Given the description of an element on the screen output the (x, y) to click on. 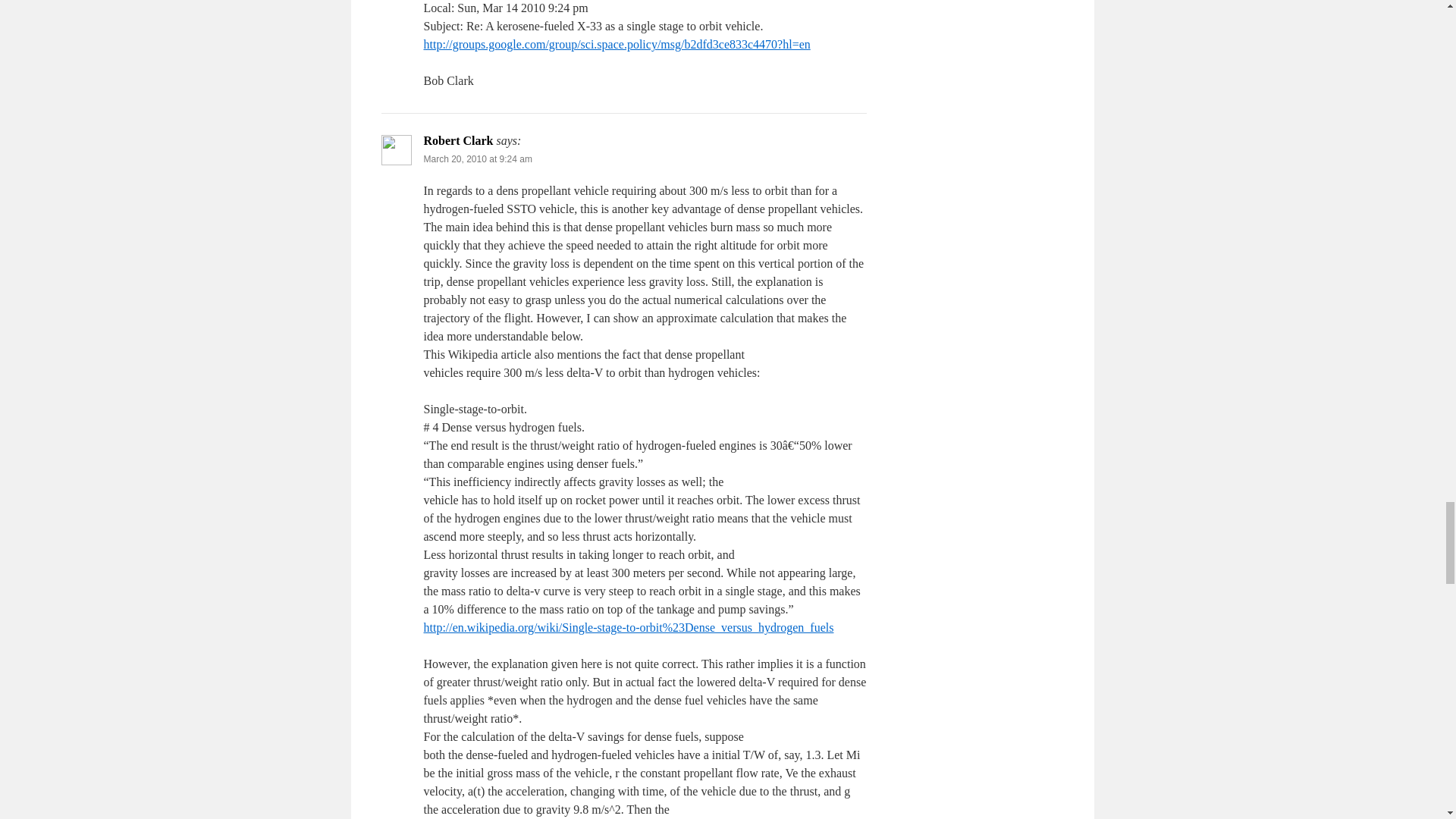
March 20, 2010 at 9:24 am (477, 158)
